Given the description of an element on the screen output the (x, y) to click on. 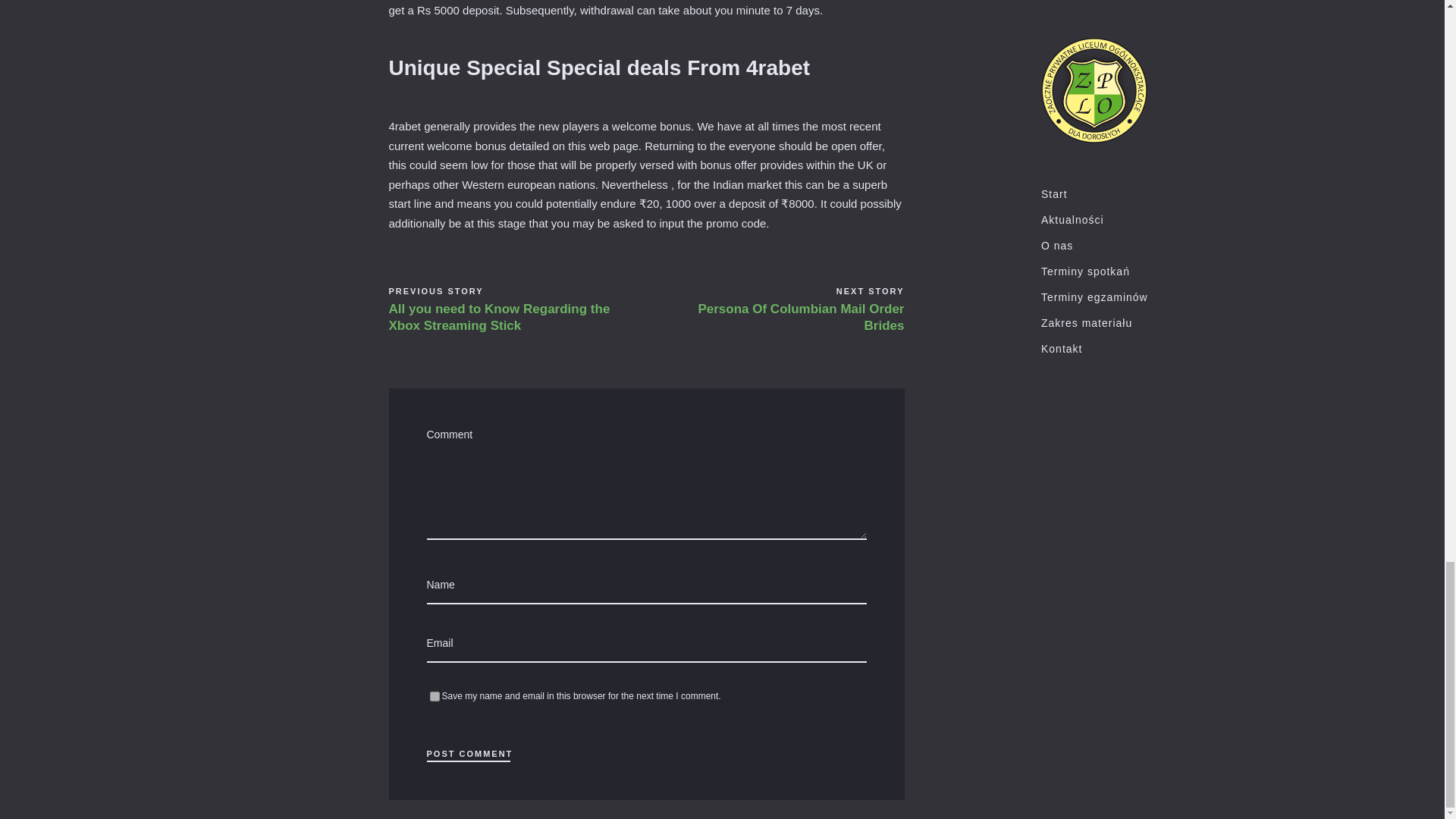
yes (434, 696)
Persona Of Columbian Mail Order Brides (790, 317)
POST COMMENT (469, 746)
POST COMMENT (469, 746)
All you need to Know Regarding the Xbox Streaming Stick (499, 317)
